Given the description of an element on the screen output the (x, y) to click on. 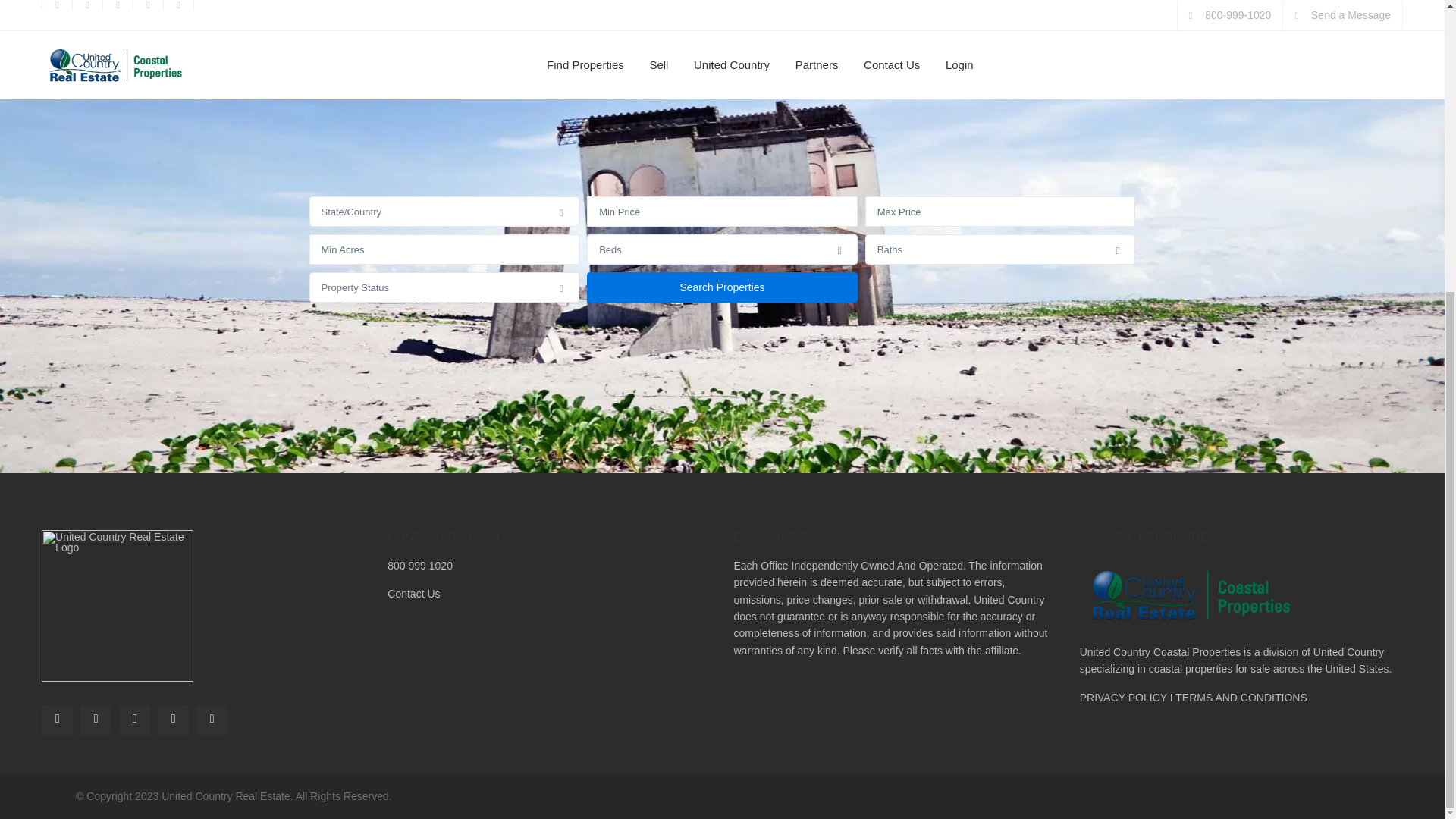
Search Properties (721, 286)
Contact Us (413, 593)
Call Us (419, 565)
